Given the description of an element on the screen output the (x, y) to click on. 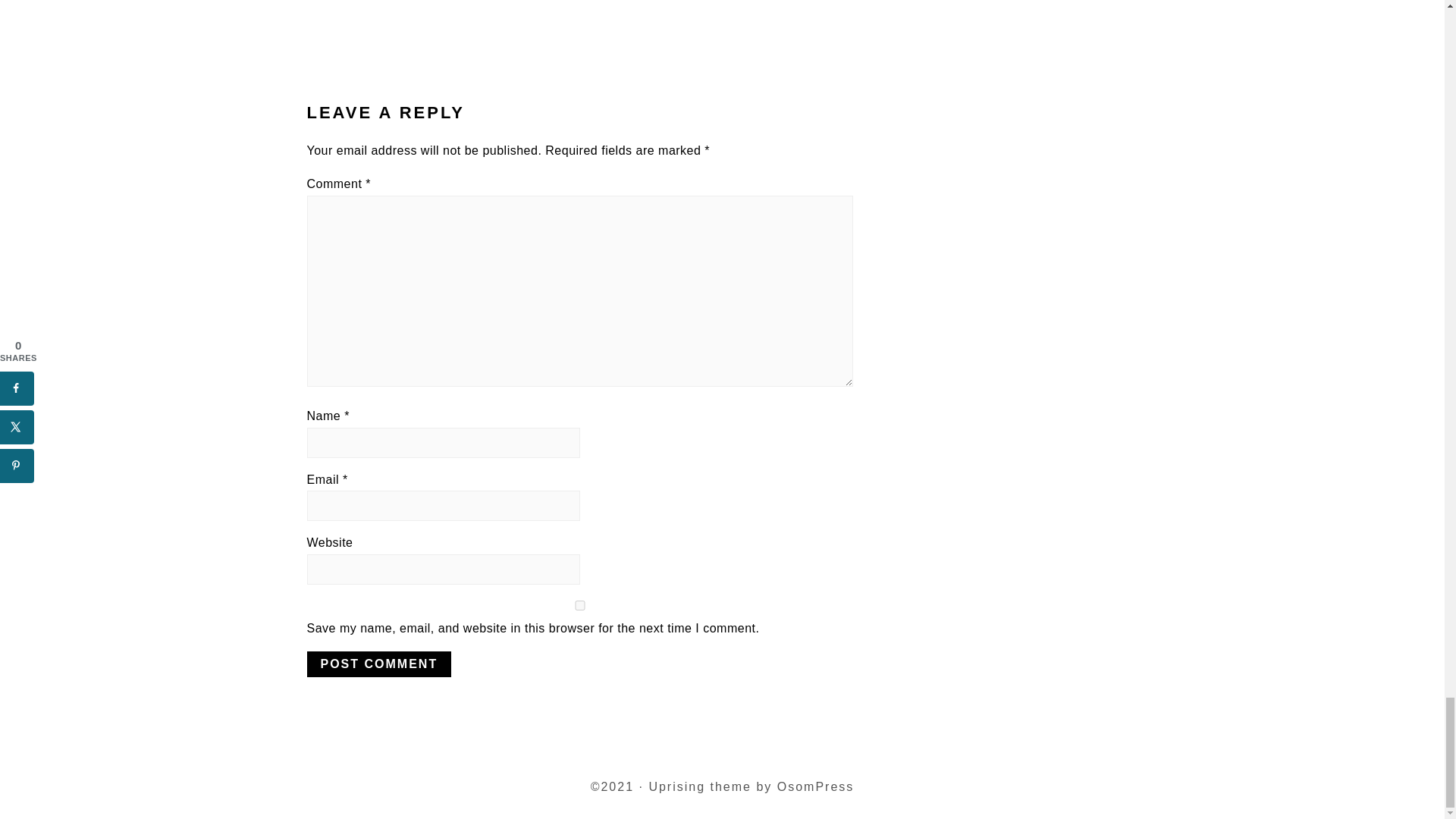
yes (578, 605)
Post Comment (378, 664)
